Given the description of an element on the screen output the (x, y) to click on. 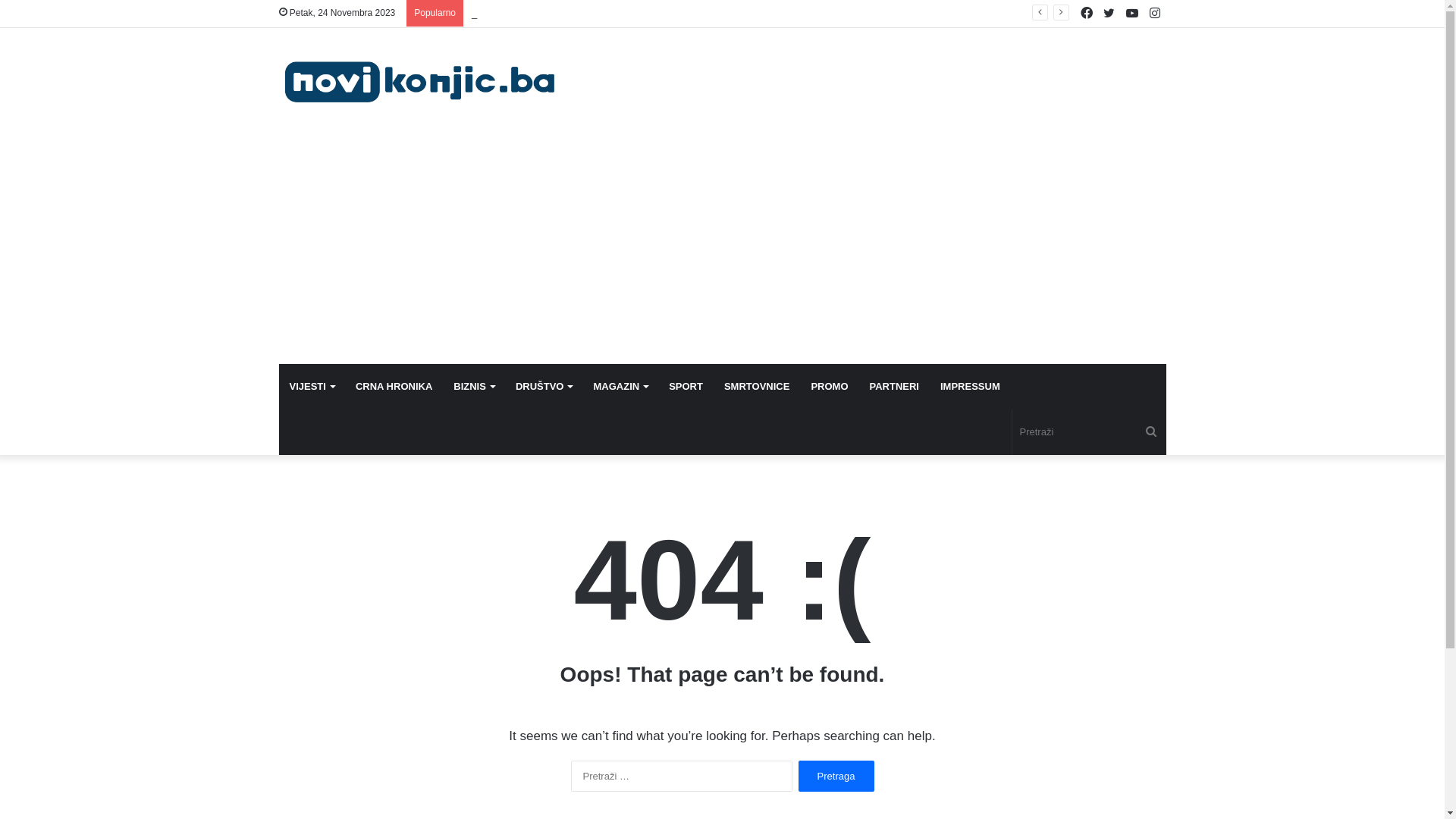
MAGAZIN Element type: text (620, 386)
PROMO Element type: text (829, 386)
Pretraga Element type: text (835, 775)
BIZNIS Element type: text (473, 386)
Instagram Element type: text (1154, 13)
PARTNERI Element type: text (893, 386)
Advertisement Element type: hover (722, 250)
CRNA HRONIKA Element type: text (393, 386)
Novi Konjic Element type: hover (419, 82)
YouTube Element type: text (1131, 13)
SPORT Element type: text (685, 386)
Facebook Element type: text (1086, 13)
Twitter Element type: text (1109, 13)
VIJESTI Element type: text (312, 386)
SMRTOVNICE Element type: text (756, 386)
IMPRESSUM Element type: text (969, 386)
